Given the description of an element on the screen output the (x, y) to click on. 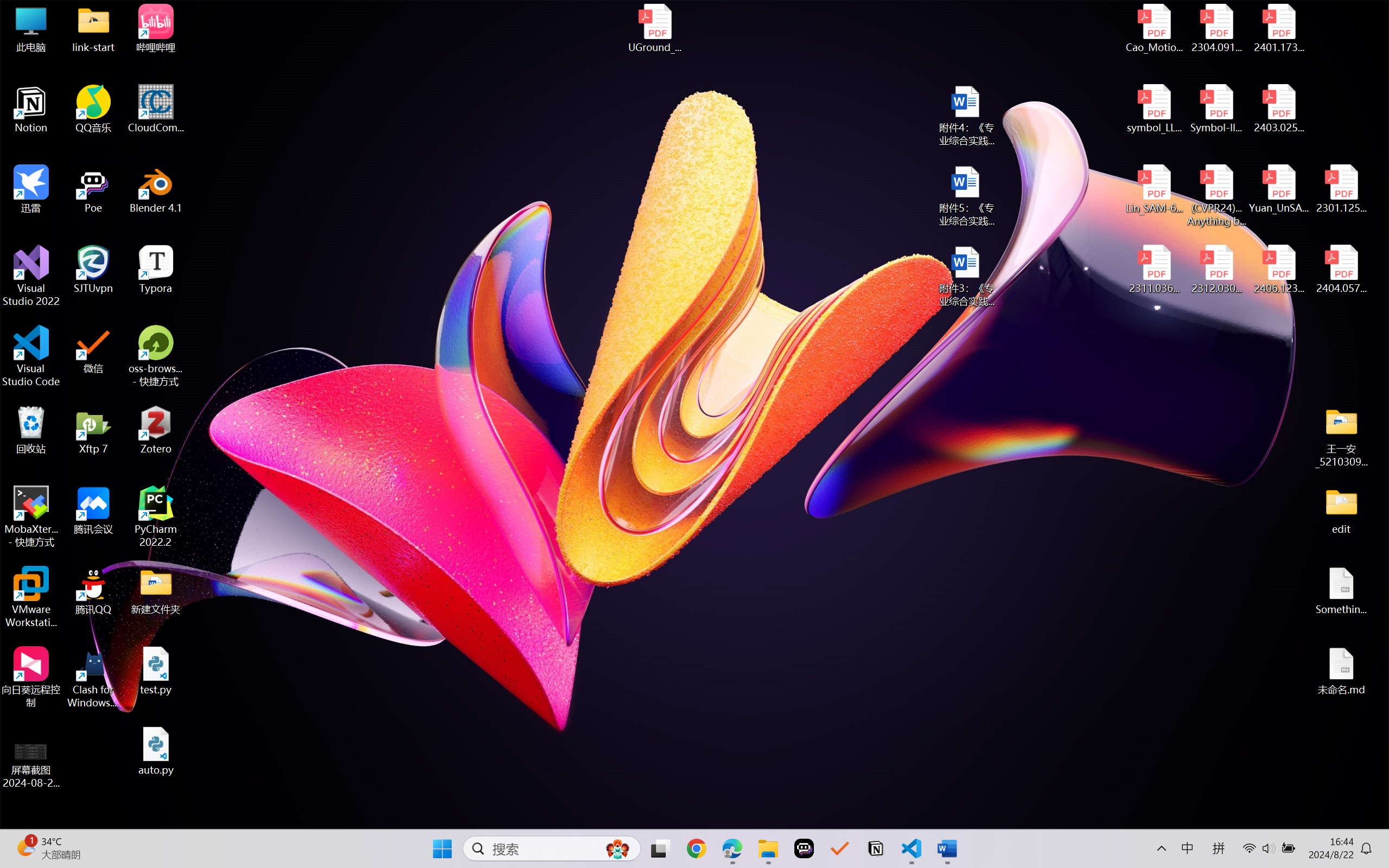
SJTUvpn (93, 269)
Blender 4.1 (156, 189)
Typora (156, 269)
2403.02502v1.pdf (1278, 109)
